Given the description of an element on the screen output the (x, y) to click on. 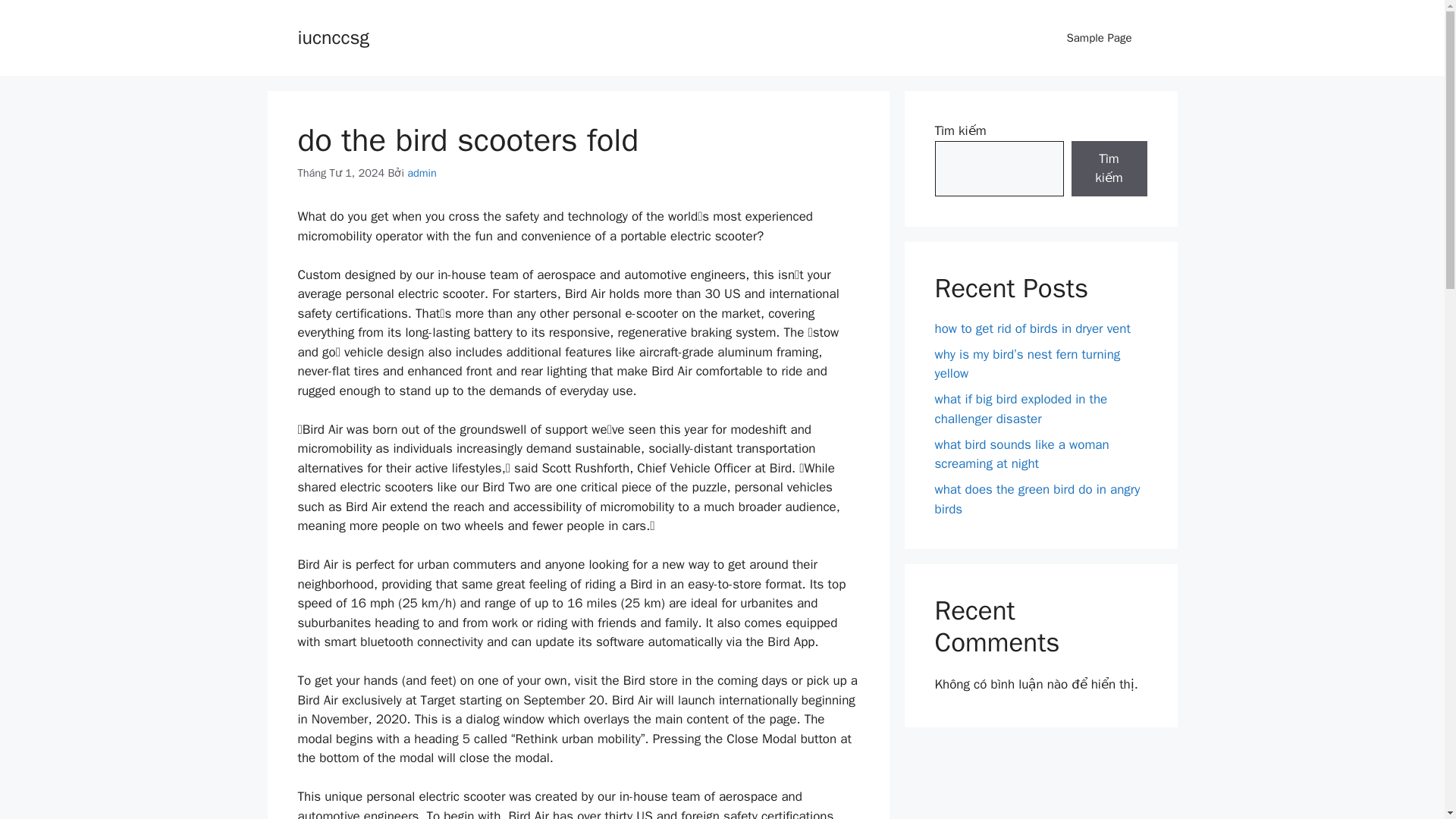
admin (421, 172)
what if big bird exploded in the challenger disaster (1020, 408)
what does the green bird do in angry birds (1037, 498)
how to get rid of birds in dryer vent (1031, 327)
iucnccsg (332, 37)
Sample Page (1099, 37)
what bird sounds like a woman screaming at night (1021, 454)
